Given the description of an element on the screen output the (x, y) to click on. 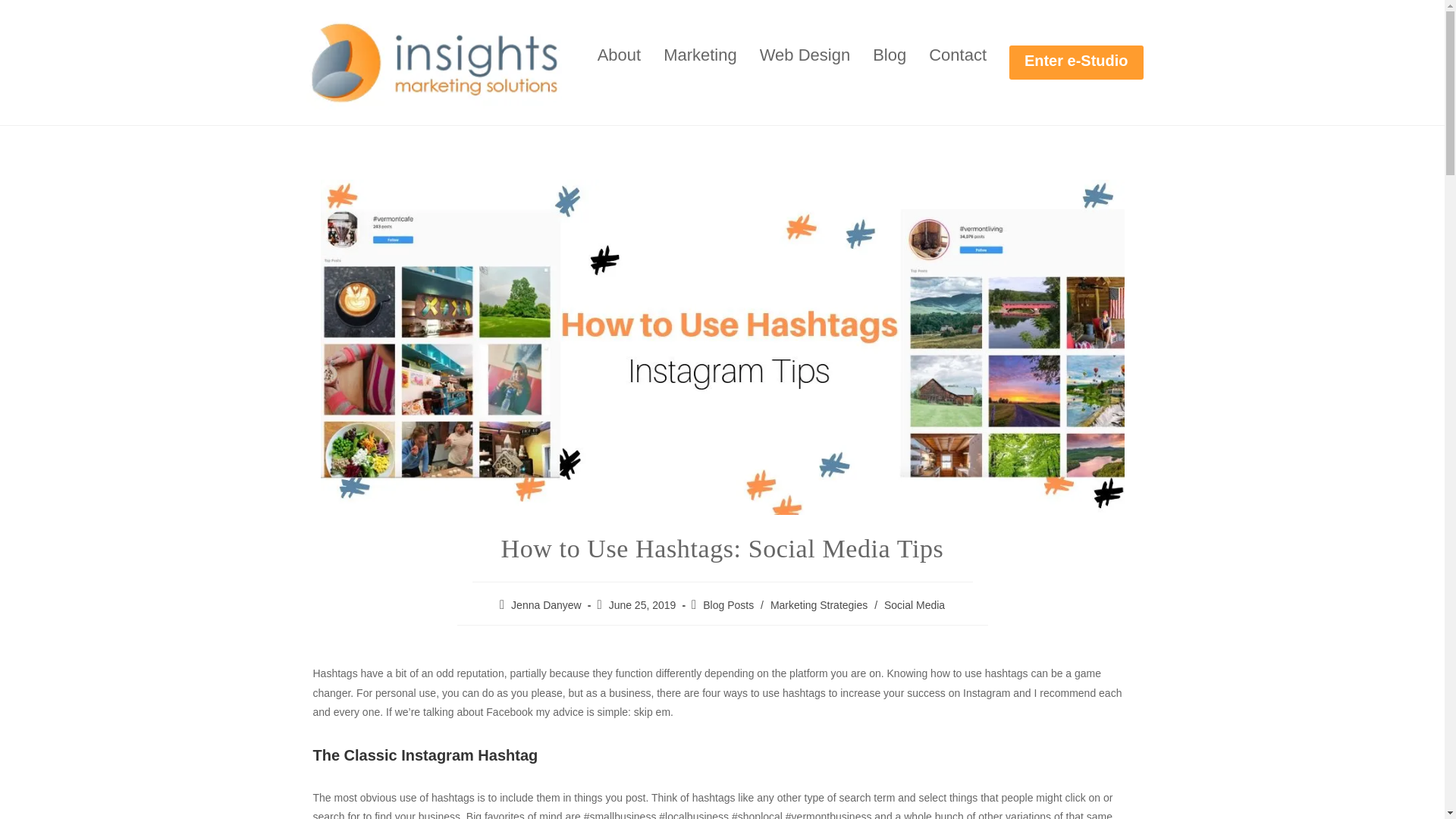
Contact (957, 55)
Blog Posts (728, 604)
Posts by Jenna Danyew (545, 604)
Marketing (700, 55)
Web Design (804, 55)
Jenna Danyew (545, 604)
Enter e-Studio (1075, 62)
Social Media (913, 604)
Marketing Strategies (818, 604)
